Given the description of an element on the screen output the (x, y) to click on. 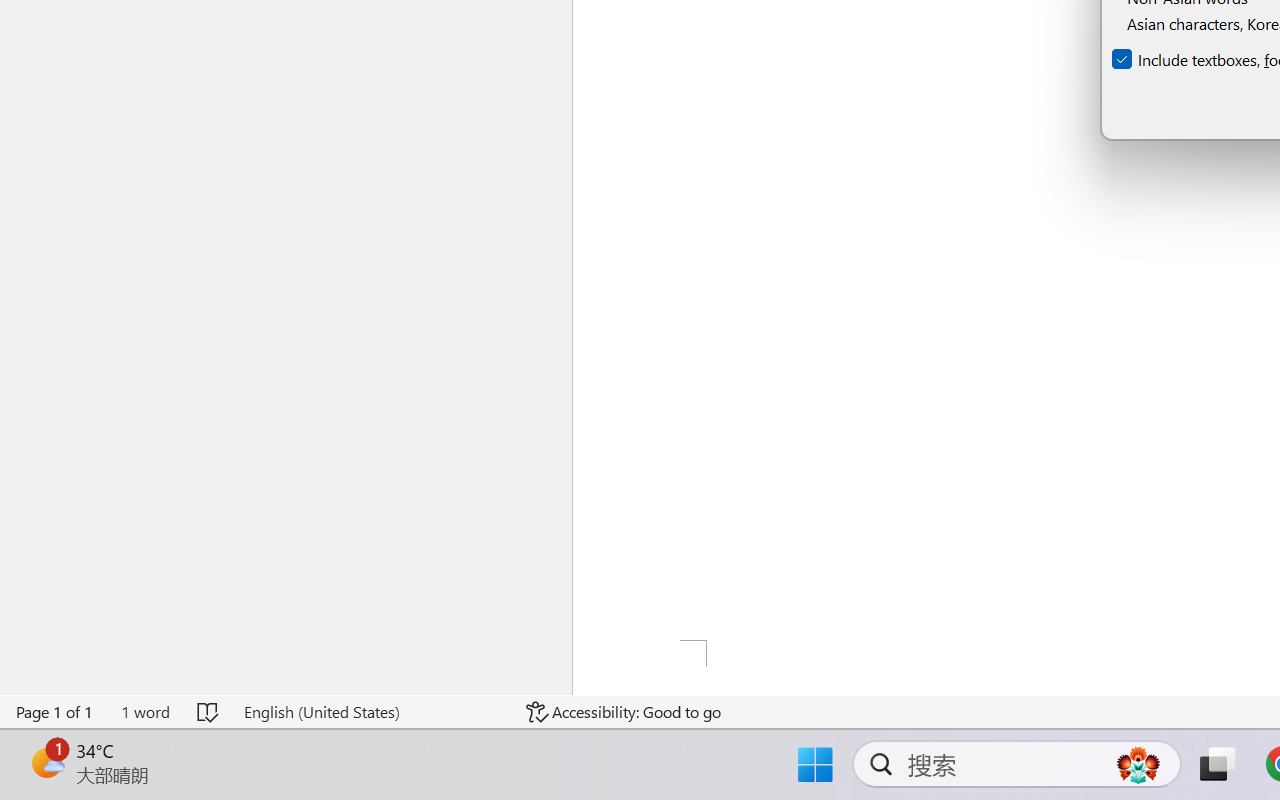
Page Number Page 1 of 1 (55, 712)
AutomationID: DynamicSearchBoxGleamImage (1138, 764)
Language English (United States) (370, 712)
Word Count 1 word (145, 712)
Spelling and Grammar Check No Errors (208, 712)
Accessibility Checker Accessibility: Good to go (623, 712)
AutomationID: BadgeAnchorLargeTicker (46, 762)
